Given the description of an element on the screen output the (x, y) to click on. 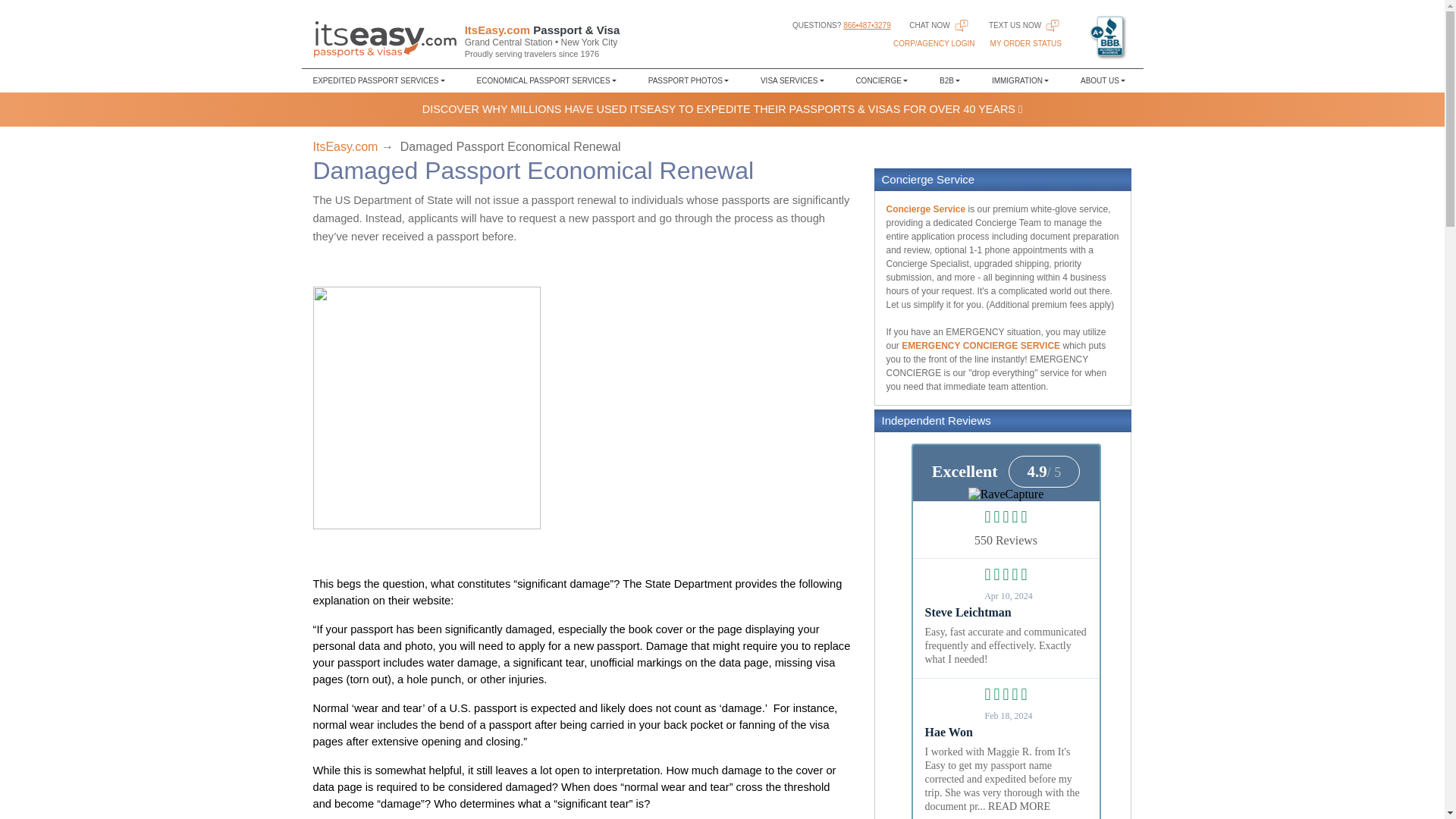
PASSPORT PHOTOS (688, 80)
EXPEDITED PASSPORT SERVICES (382, 80)
ECONOMICAL PASSPORT SERVICES (546, 80)
VISA SERVICES (791, 80)
MY ORDER STATUS (1025, 43)
